Given the description of an element on the screen output the (x, y) to click on. 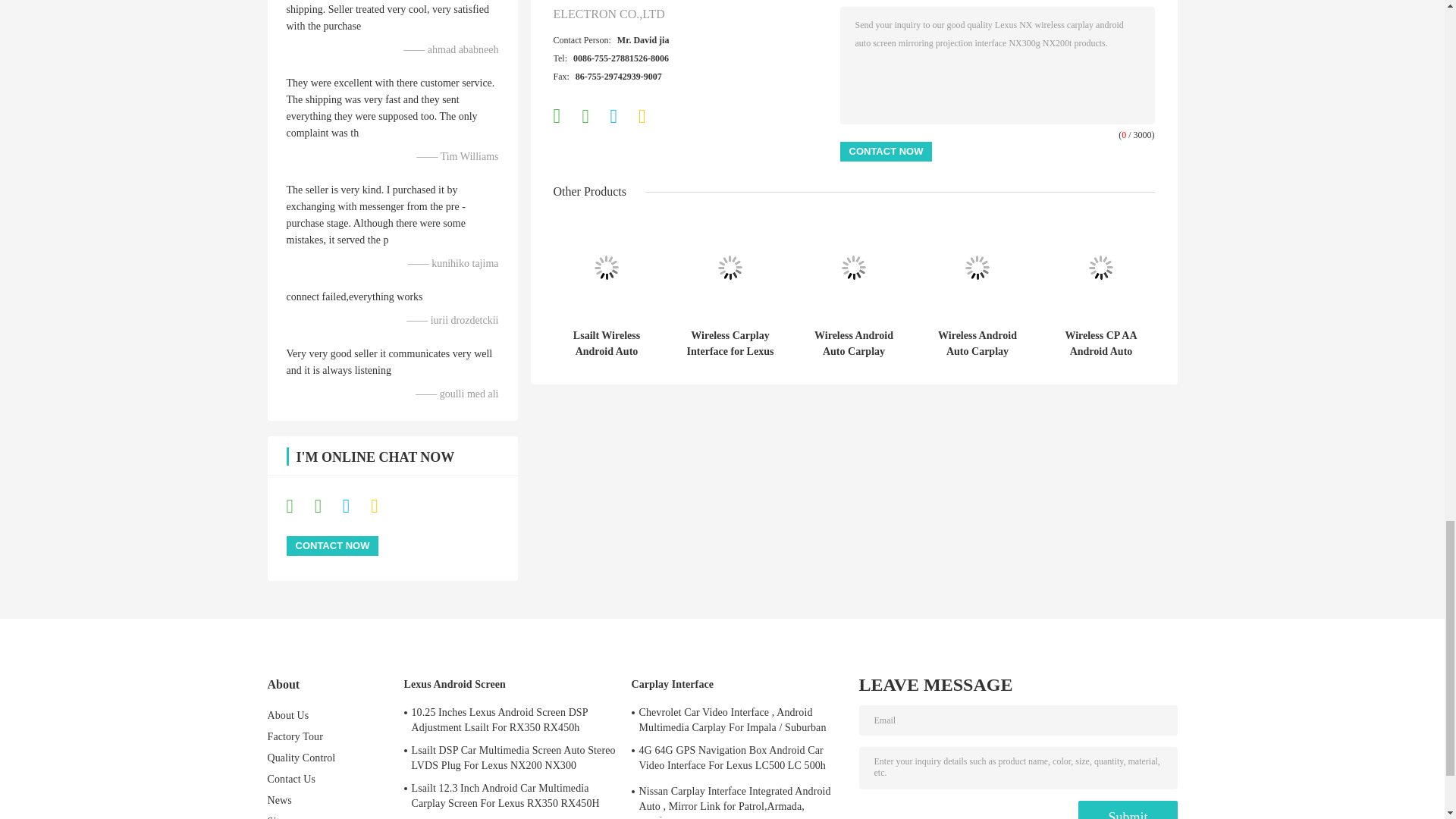
Contact Now (886, 151)
Submit (1127, 809)
Contact Now (332, 546)
